Given the description of an element on the screen output the (x, y) to click on. 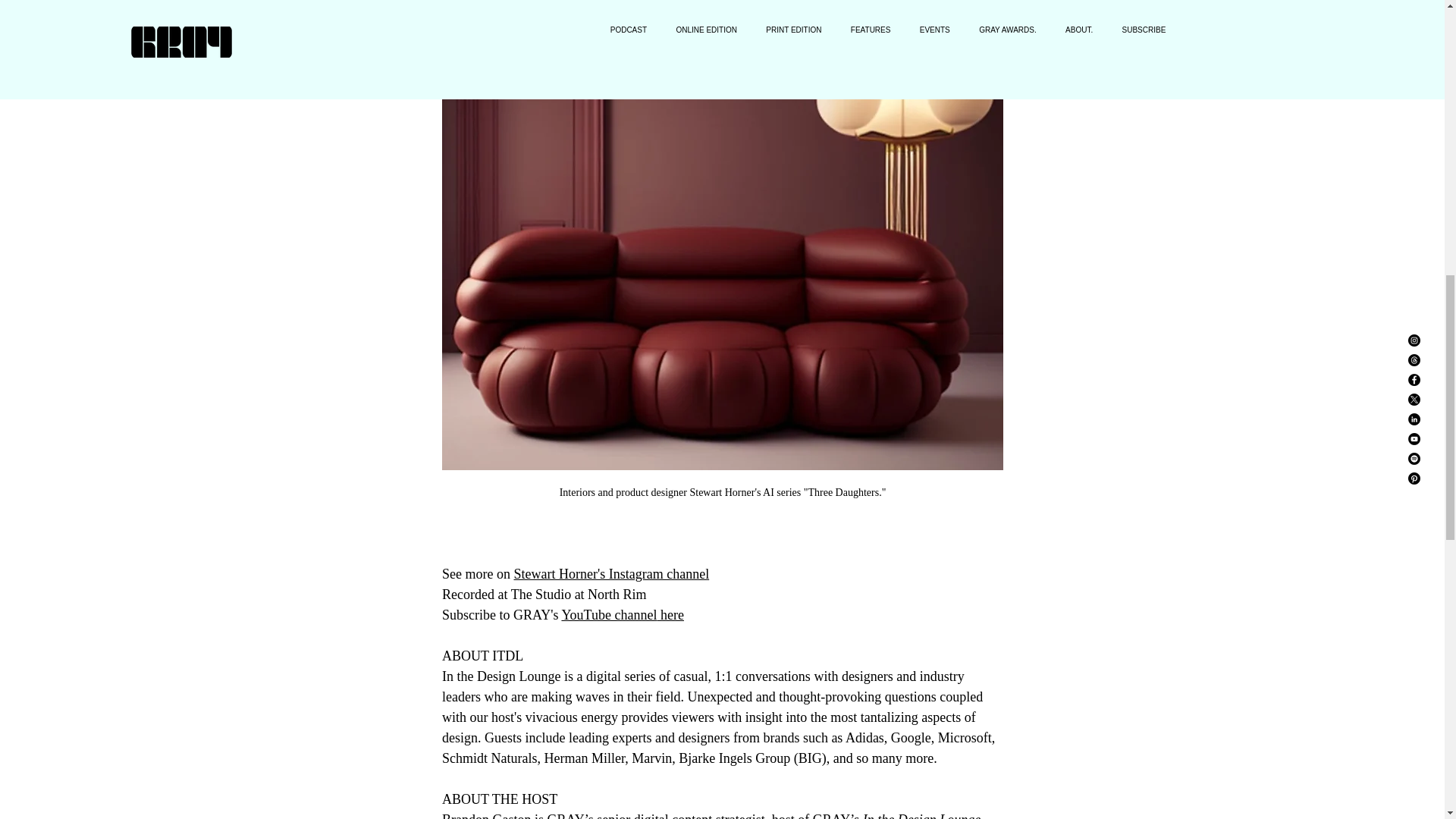
YouTube channel (608, 614)
Stewart Horner's Instagram channel (611, 573)
